Given the description of an element on the screen output the (x, y) to click on. 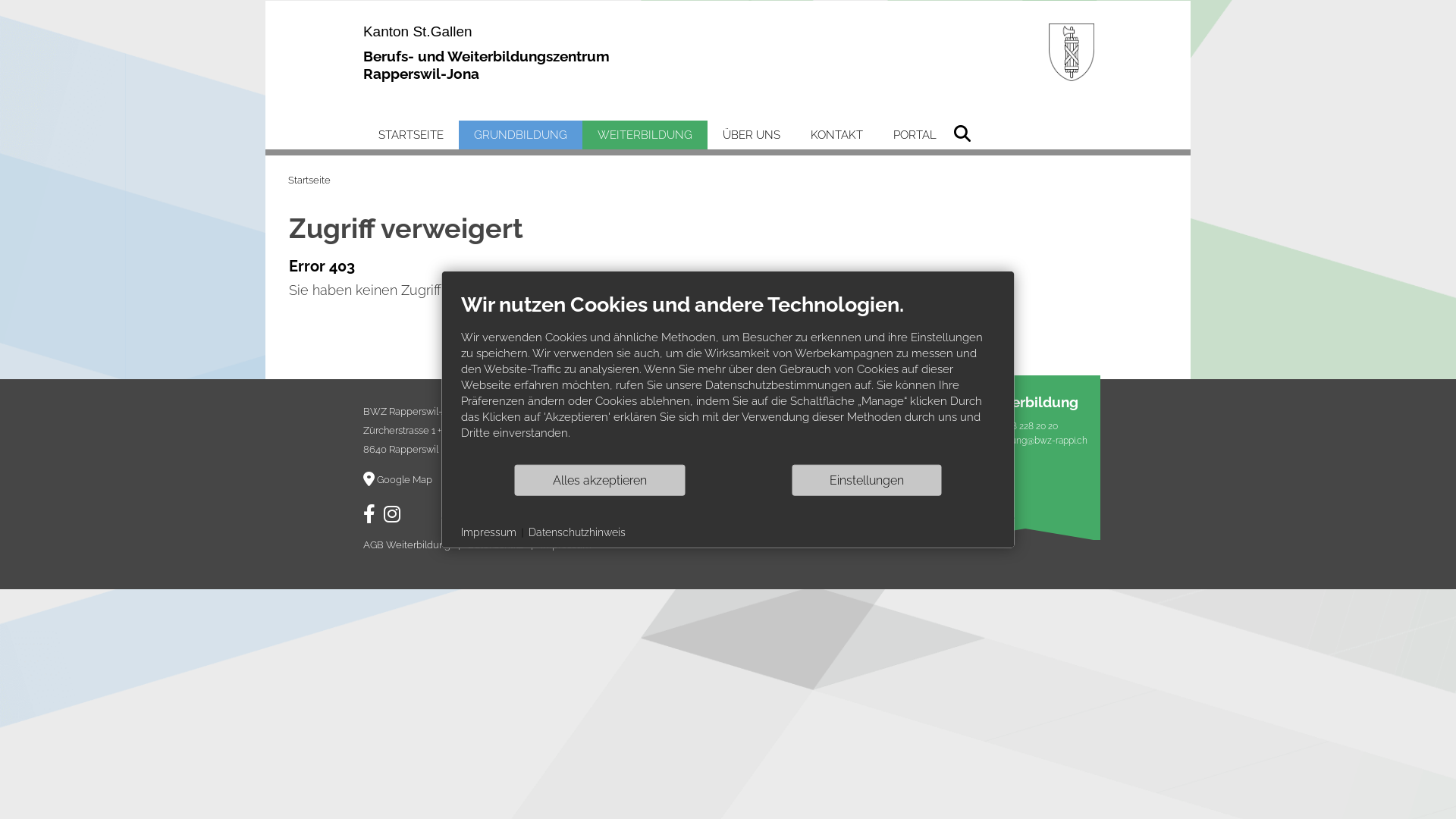
Direkt zum Inhalt Element type: text (0, 0)
PORTAL Element type: text (914, 134)
Startseite Element type: text (309, 179)
Einstellungen Element type: text (866, 479)
Alles akzeptieren Element type: text (599, 479)
weiterbildung@bwz-rappi.ch Element type: text (1029, 442)
SUCHE Element type: text (959, 131)
info@bwz-rappi.ch Element type: text (843, 442)
Grundbildung Element type: text (843, 404)
Datenschutzhinweis Element type: text (575, 532)
STARTSEITE Element type: text (410, 134)
Google Map Element type: text (397, 479)
058 228 20 00 Element type: text (843, 427)
Datenschutz Element type: text (495, 544)
GRUNDBILDUNG Element type: text (520, 134)
Impressum Element type: text (565, 544)
Impressum Element type: text (488, 532)
Weiterbildung Element type: text (1029, 404)
058 228 20 20 Element type: text (1029, 427)
WEITERBILDUNG Element type: text (644, 134)
AGB Weiterbildung Element type: text (406, 544)
KONTAKT Element type: text (836, 134)
